Given the description of an element on the screen output the (x, y) to click on. 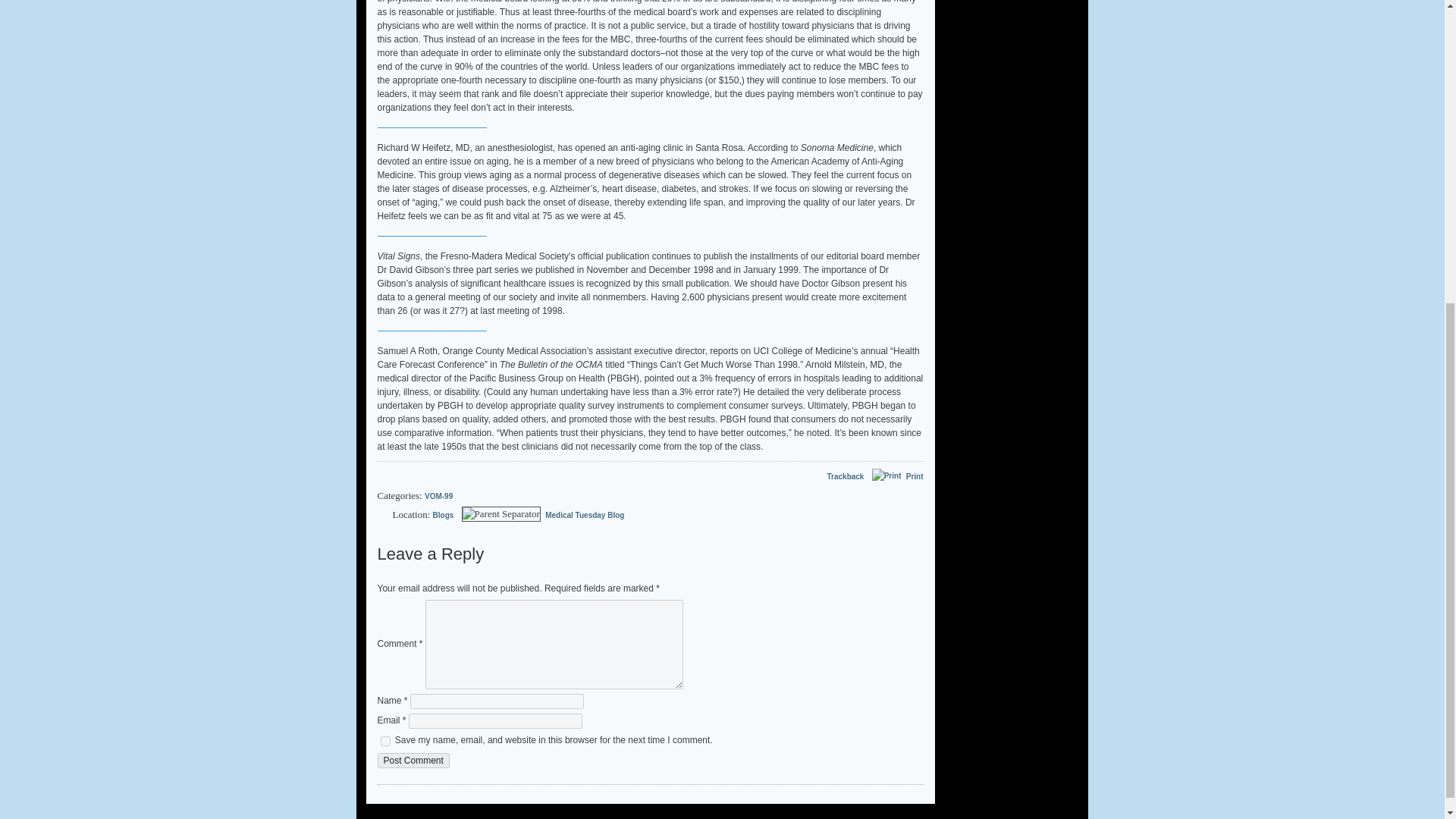
Print (886, 476)
Print (914, 476)
Post Comment (413, 760)
Blogs (443, 515)
VOM-99 (438, 496)
Trackback (836, 476)
Post Comment (413, 760)
Medical Tuesday Blog (584, 515)
yes (385, 741)
Print (914, 476)
Print (885, 476)
